Given the description of an element on the screen output the (x, y) to click on. 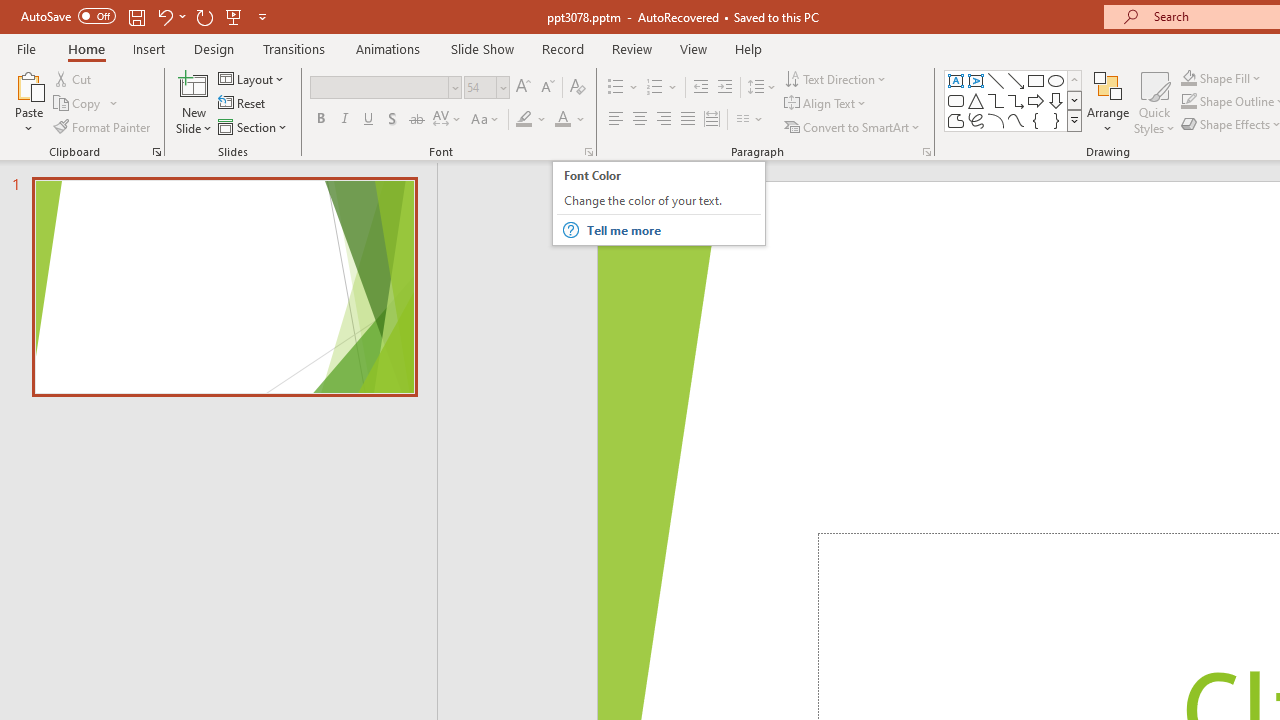
Class: NetUIImage (1075, 120)
Office Clipboard... (156, 151)
System (10, 11)
Shape Fill (1221, 78)
Row up (1074, 79)
Reset (243, 103)
Rectangle (1035, 80)
Bullets (616, 87)
Section (254, 126)
Strikethrough (416, 119)
Design (214, 48)
Arrow: Down (1055, 100)
Underline (369, 119)
Convert to SmartArt (853, 126)
